Given the description of an element on the screen output the (x, y) to click on. 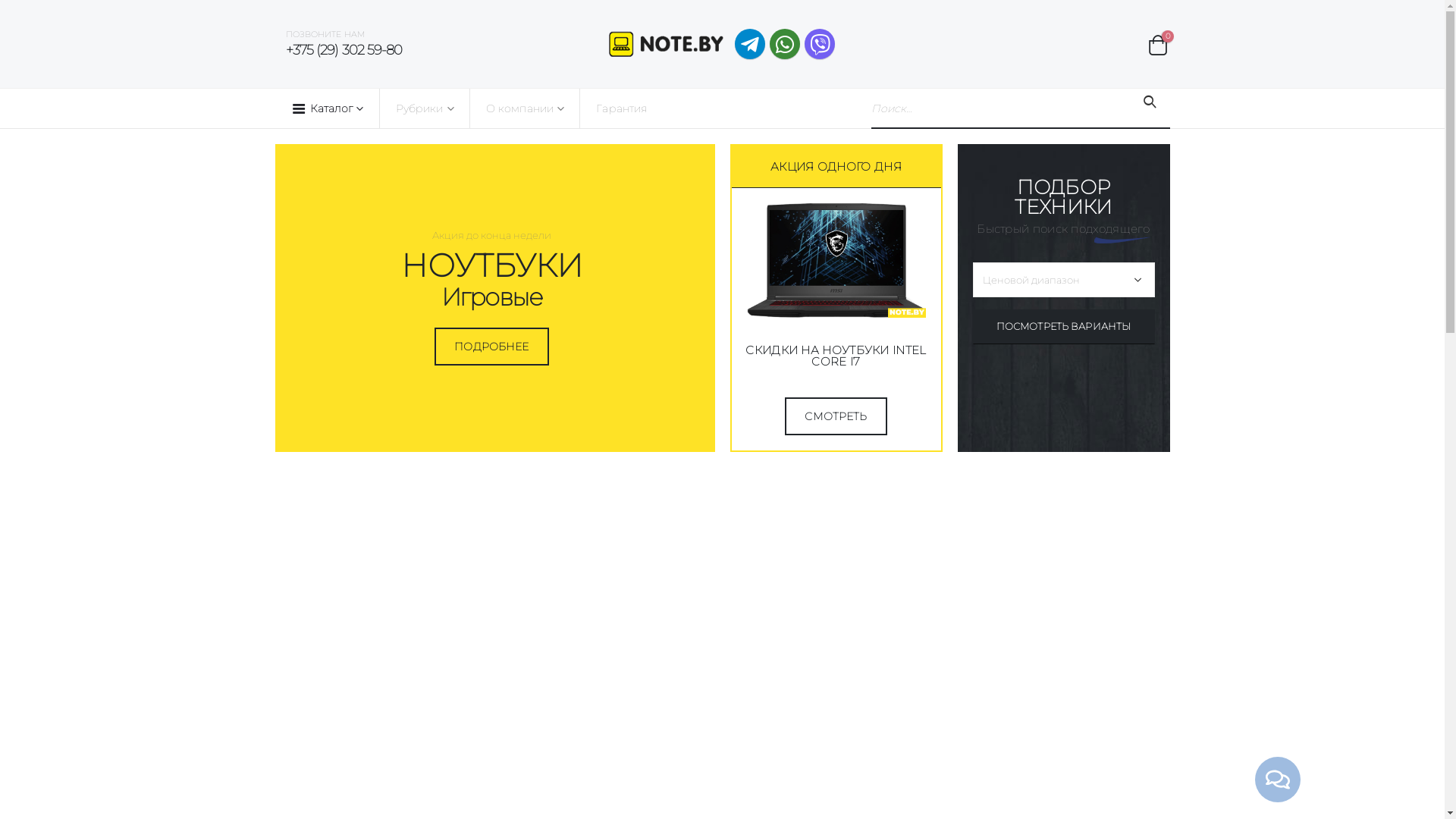
Telegram Element type: hover (749, 43)
Viber Element type: hover (819, 43)
WhatsApp Element type: text (784, 43)
Note.by -  Element type: hover (665, 43)
